Given the description of an element on the screen output the (x, y) to click on. 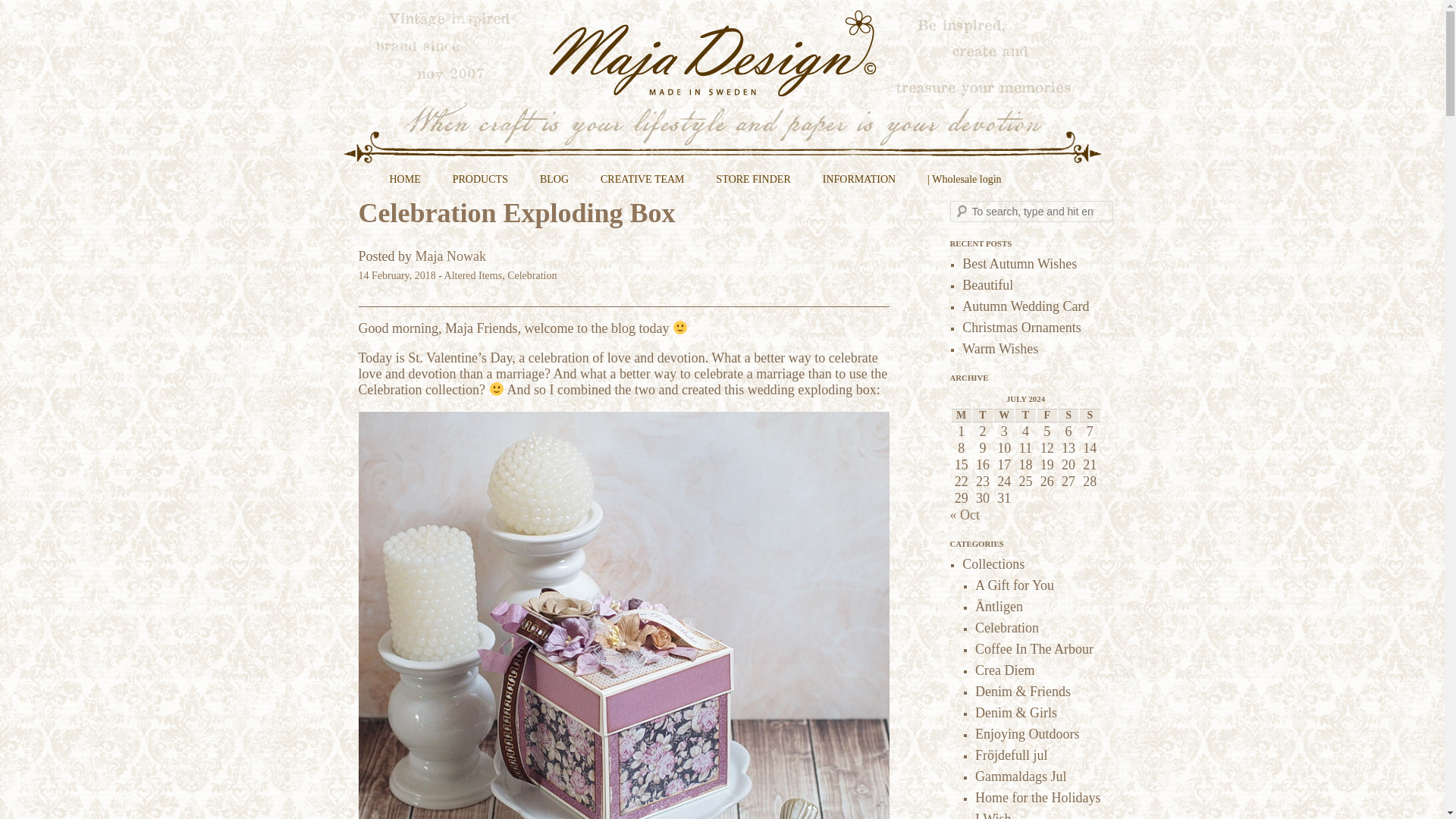
Saturday (1068, 415)
BLOG (553, 185)
INFORMATION (858, 185)
Tuesday (982, 415)
Monday (960, 415)
Celebration Exploding Box (516, 213)
Best Autumn Wishes (1019, 263)
STORE FINDER (753, 185)
Friday (1046, 415)
Altered Items (473, 275)
PRODUCTS (479, 185)
Maja Nowak (450, 255)
Celebration (531, 275)
Thursday (1024, 415)
Wednesday (1003, 415)
